Given the description of an element on the screen output the (x, y) to click on. 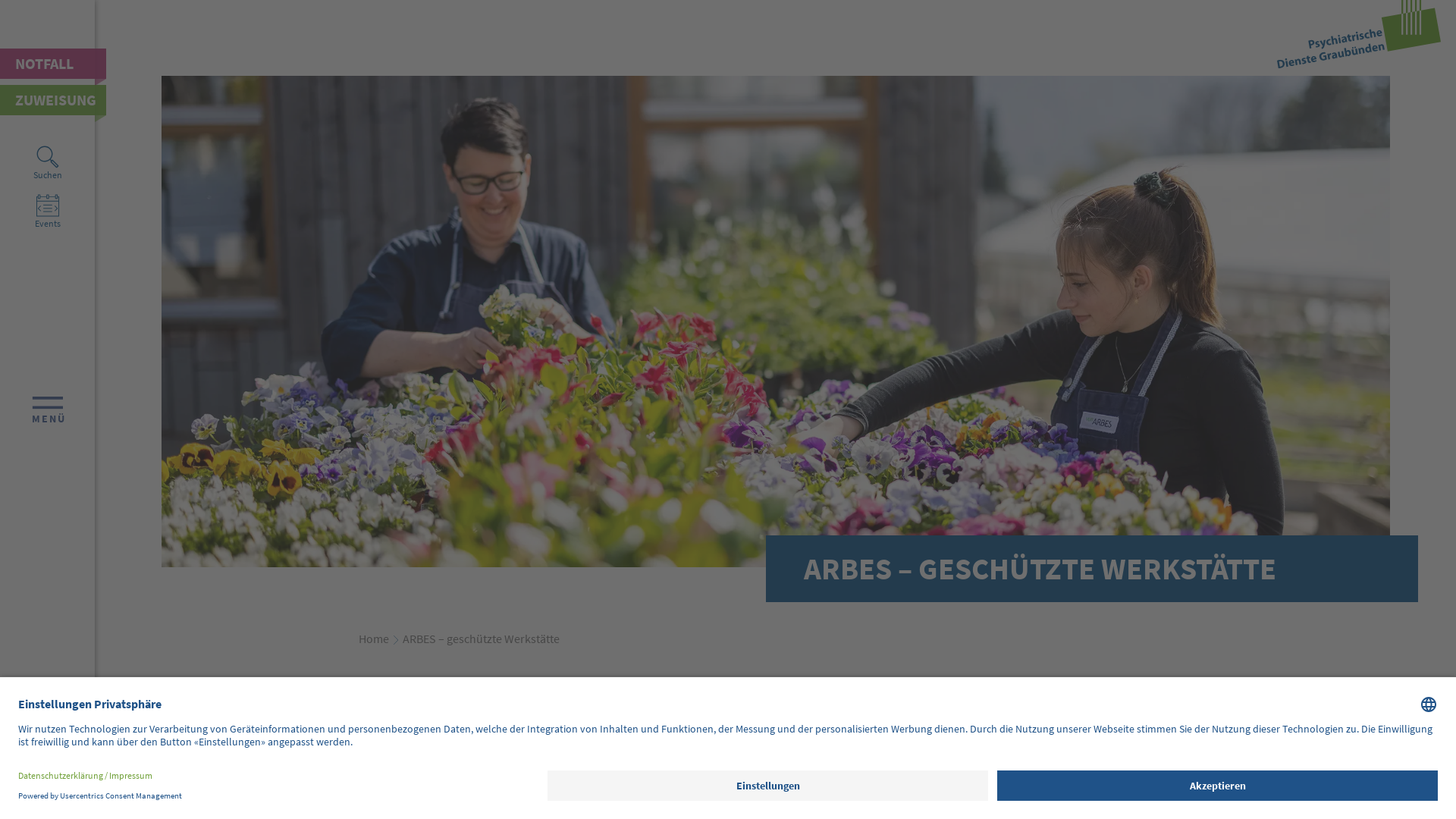
E-Mail Element type: text (47, 754)
Home Element type: text (372, 638)
Events Element type: text (47, 213)
